Given the description of an element on the screen output the (x, y) to click on. 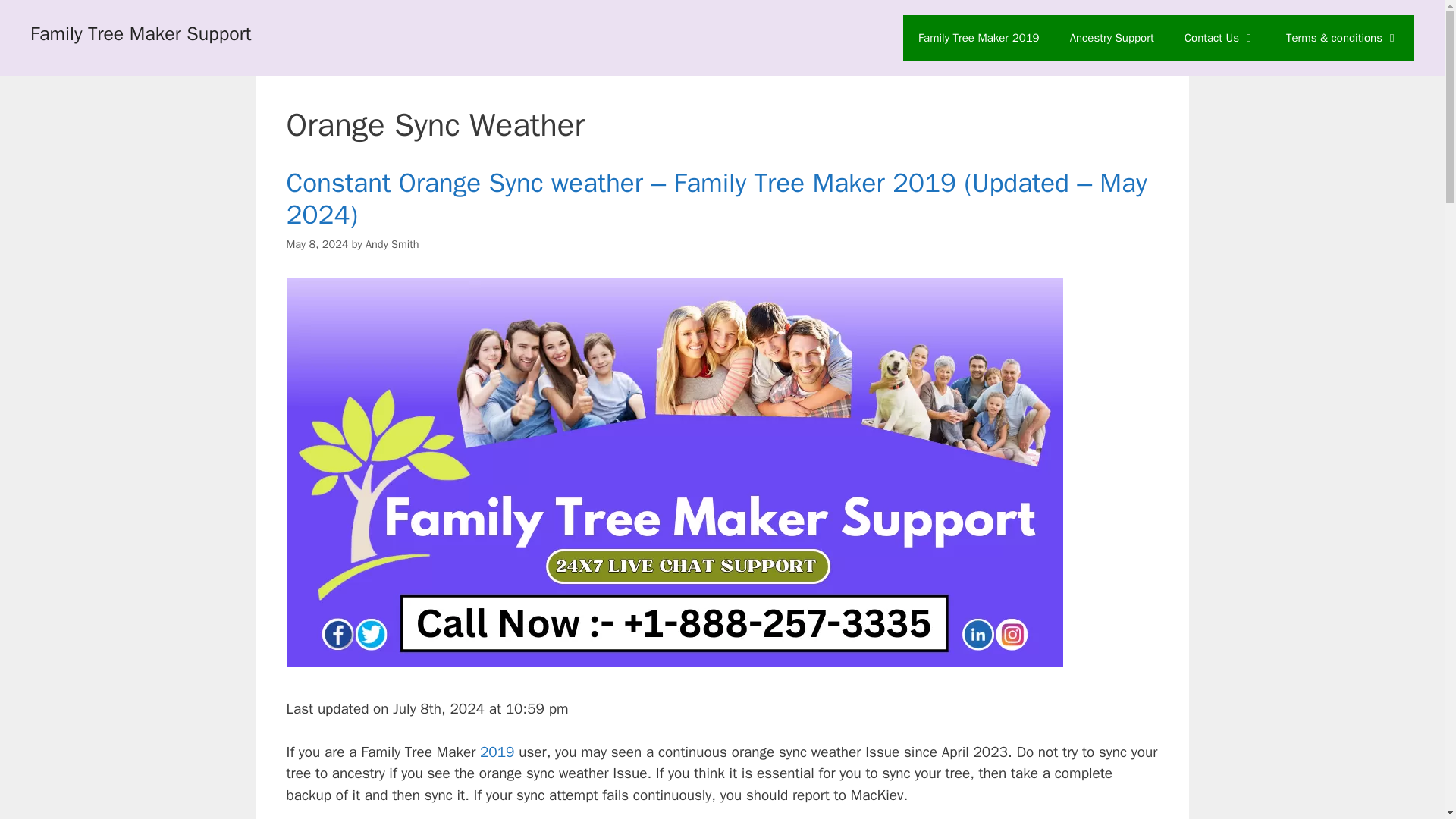
Contact Us (1220, 37)
Andy Smith (392, 243)
Family Tree Maker Support (140, 33)
Ancestry Support (1111, 37)
Family Tree Maker 2019 (978, 37)
View all posts by Andy Smith (392, 243)
 2019 (494, 751)
